Given the description of an element on the screen output the (x, y) to click on. 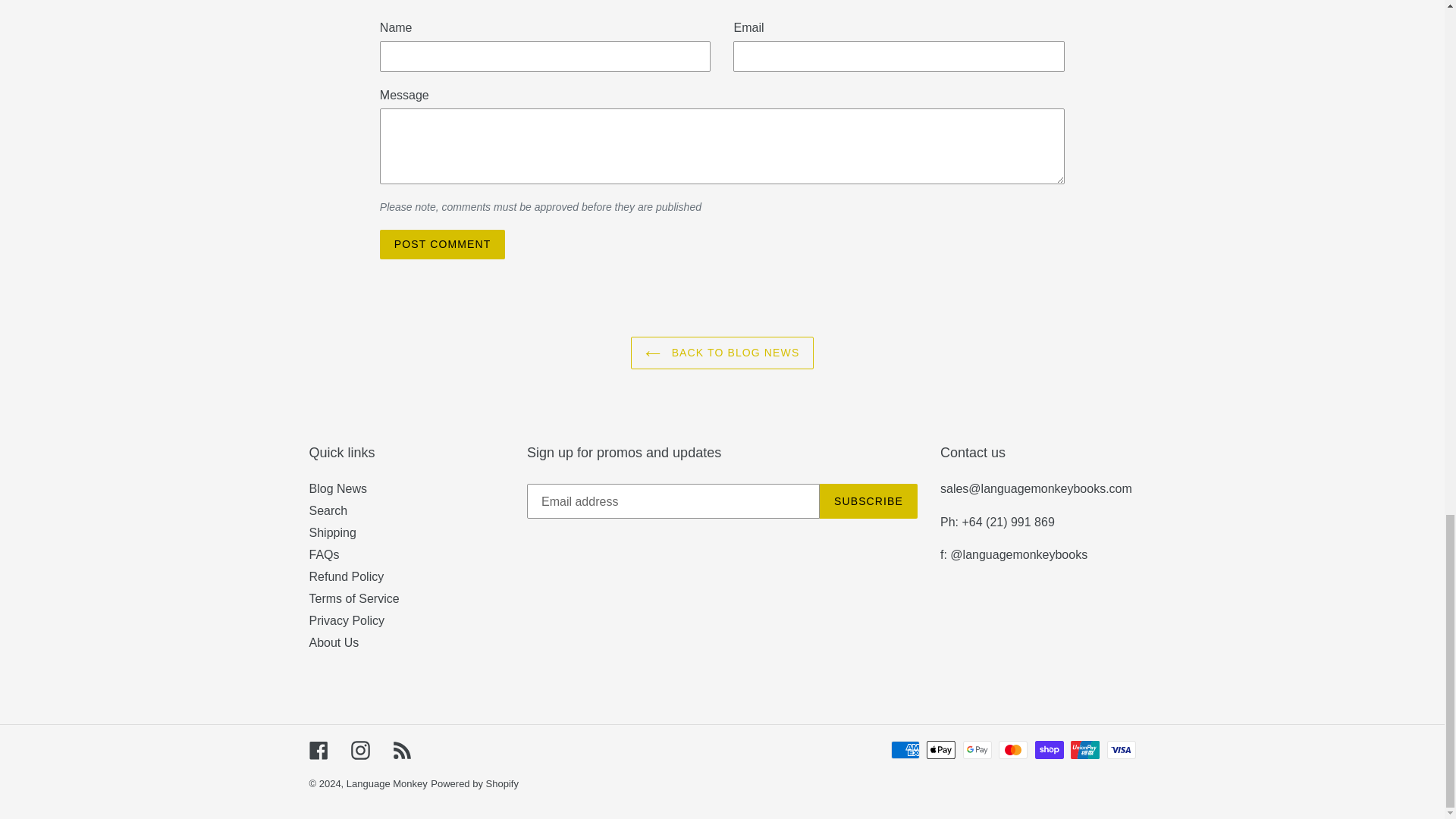
Post comment (442, 244)
